Given the description of an element on the screen output the (x, y) to click on. 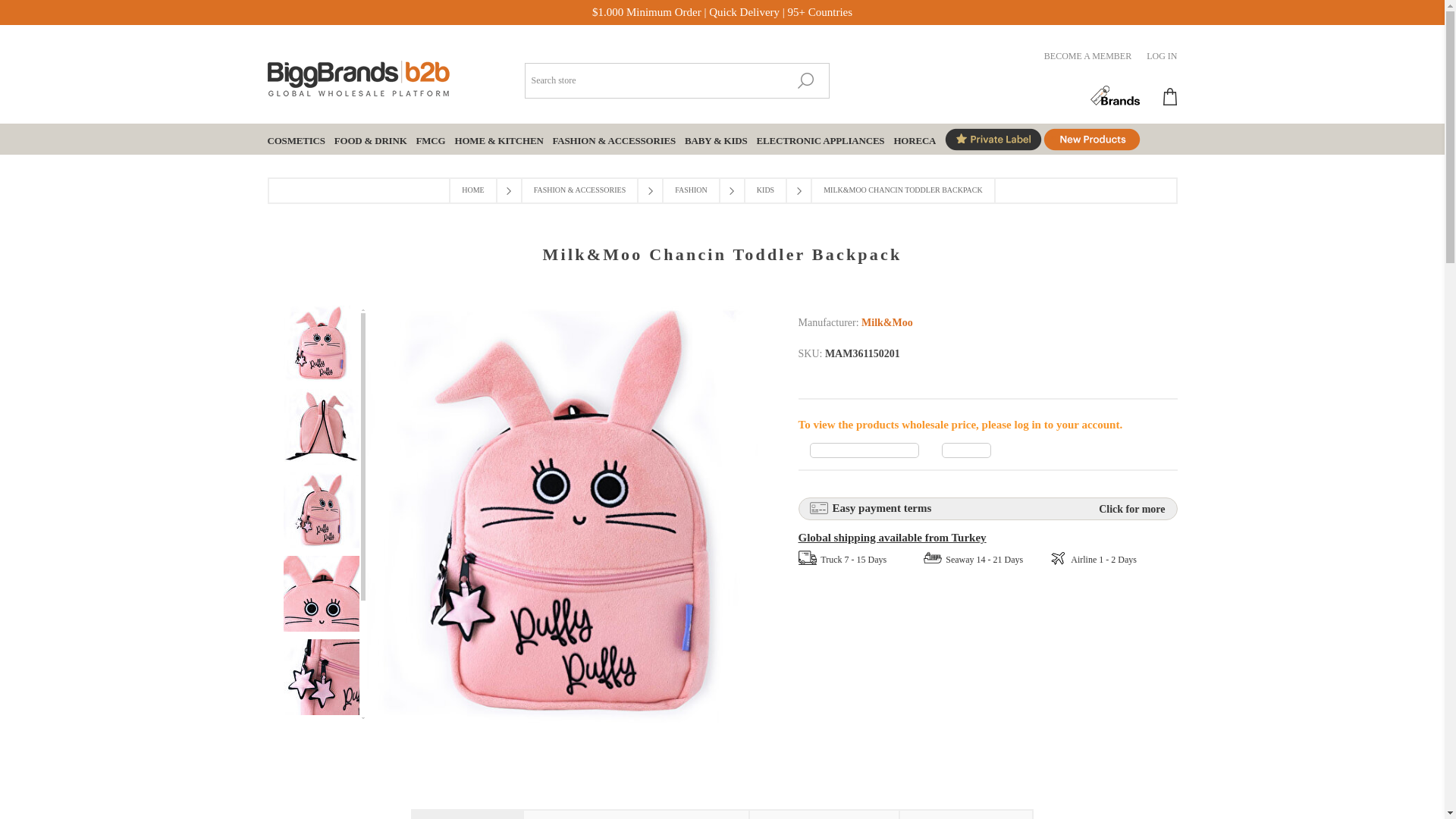
BiggBrands B2B (357, 74)
COSMETICS (295, 140)
Search (805, 80)
Search (805, 80)
Search (805, 80)
BECOME A MEMBER (1087, 56)
LOG IN (1161, 56)
